Given the description of an element on the screen output the (x, y) to click on. 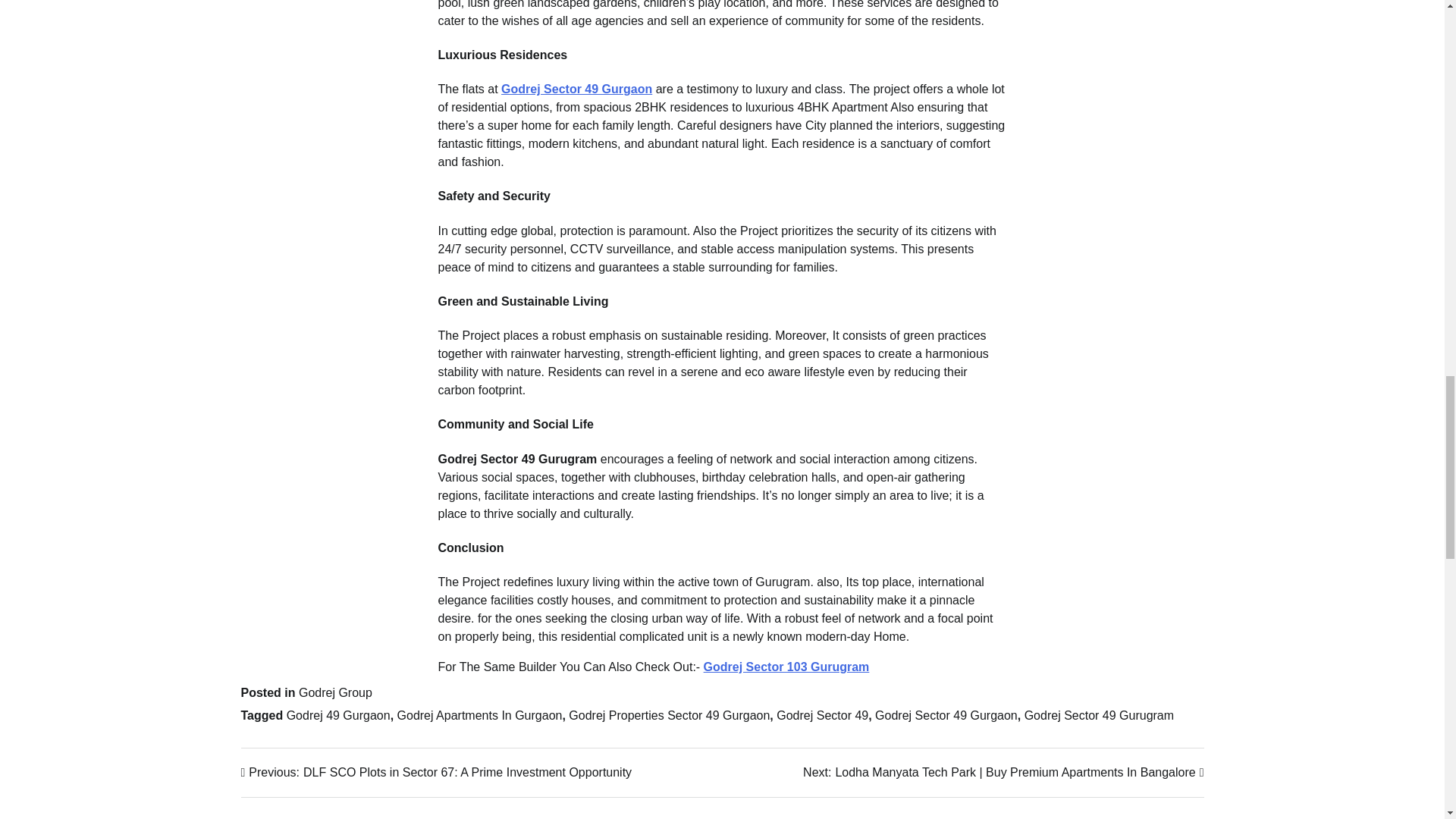
Godrej Sector 49 (821, 715)
Godrej Sector 49 Gurugram (1099, 715)
Godrej Sector 49 Gurgaon (946, 715)
Godrej Sector 103 Gurugram (786, 666)
Godrej Apartments In Gurgaon (479, 715)
Godrej 49 Gurgaon (338, 715)
Godrej Properties Sector 49 Gurgaon (669, 715)
Godrej Group (335, 692)
Godrej Sector 49 Gurgaon (576, 88)
